Given the description of an element on the screen output the (x, y) to click on. 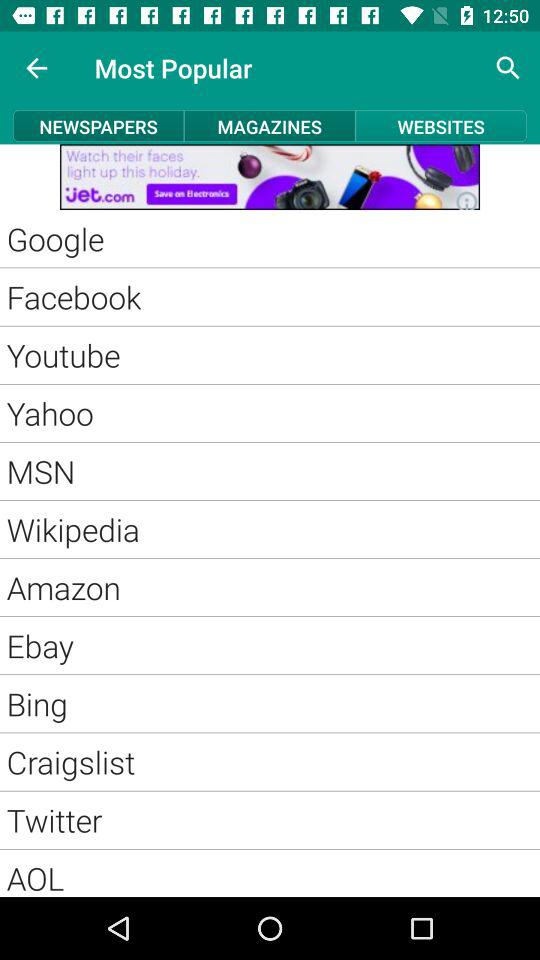
advertisement (270, 177)
